Given the description of an element on the screen output the (x, y) to click on. 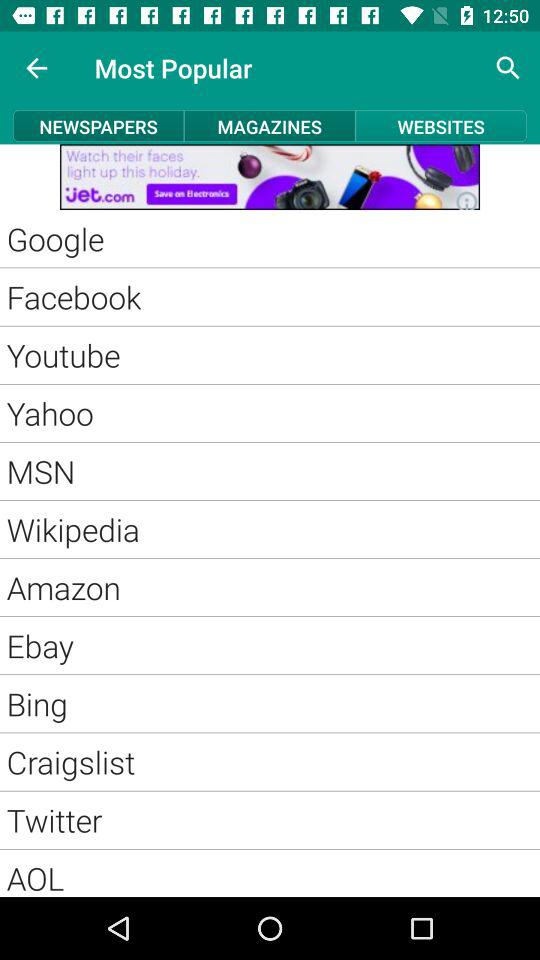
advertisement (270, 177)
